Given the description of an element on the screen output the (x, y) to click on. 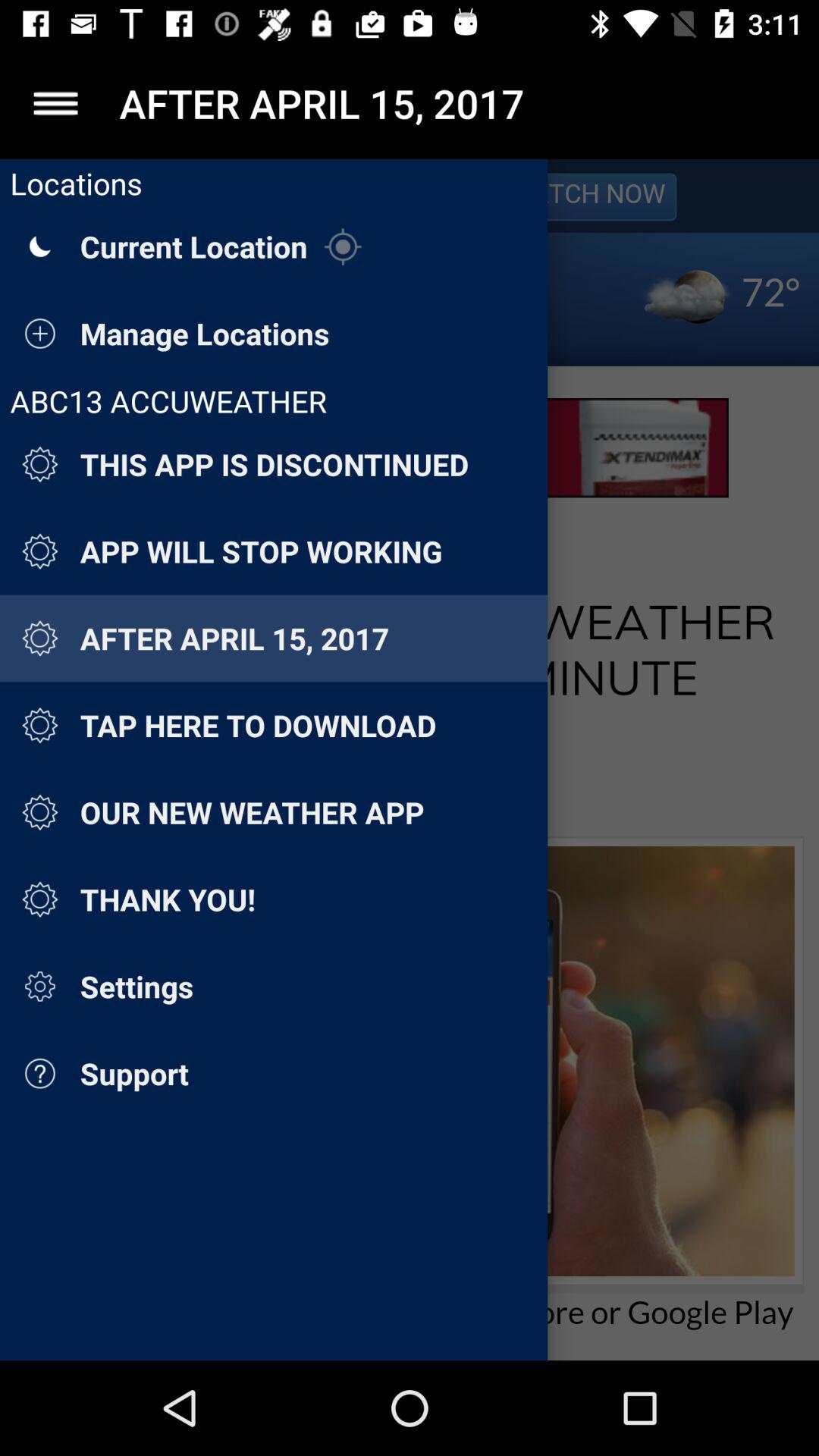
access pulldown menu (55, 103)
